Given the description of an element on the screen output the (x, y) to click on. 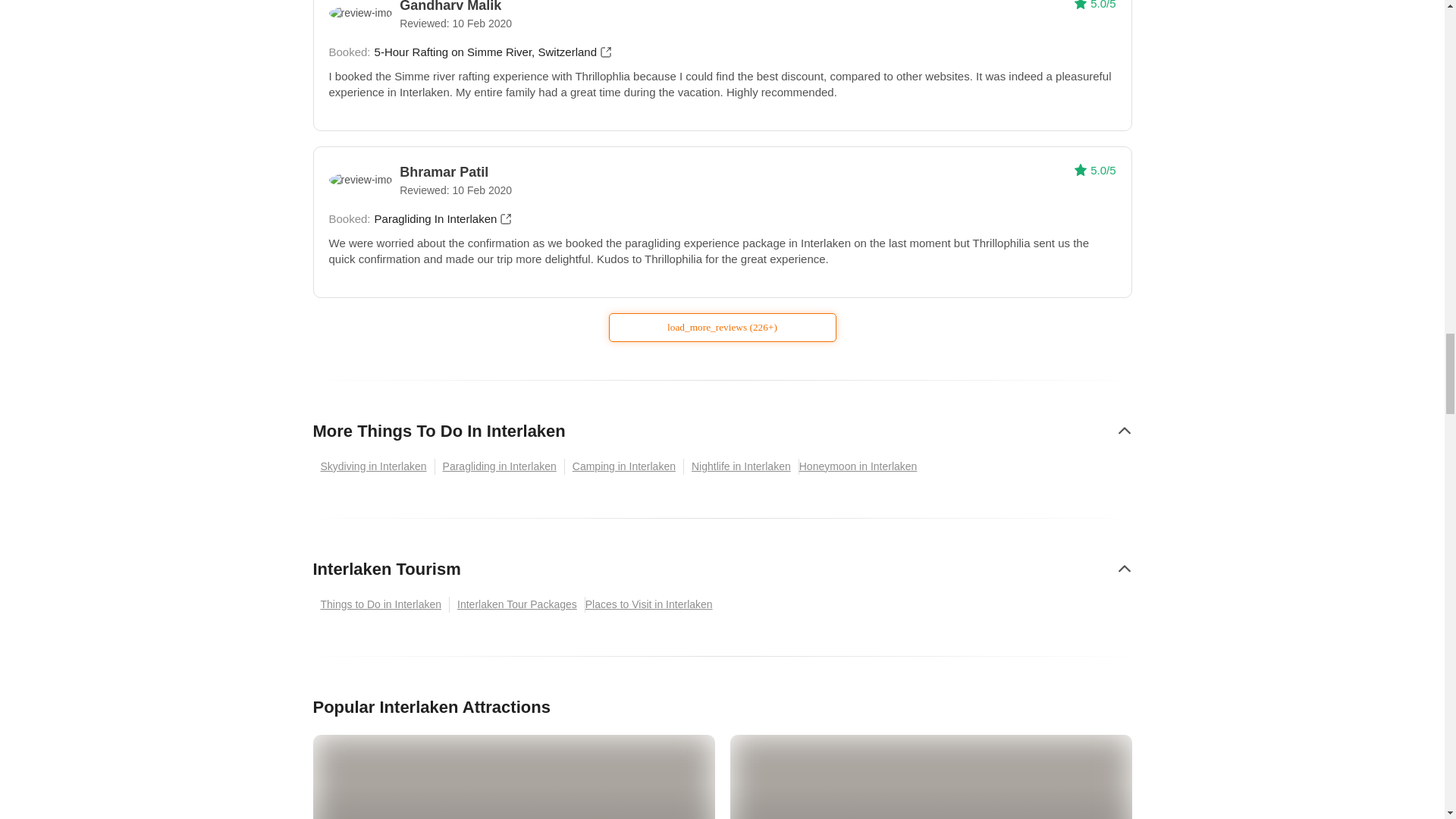
Camping in Interlaken (624, 466)
Skydiving in Interlaken (373, 466)
Paragliding in Interlaken (499, 466)
Places to Visit in Interlaken (652, 604)
5-Hour Rafting on Simme River, Switzerland (492, 51)
Things to Do in Interlaken (381, 604)
Nightlife in Interlaken (741, 466)
Interlaken Tour Packages (517, 604)
